Given the description of an element on the screen output the (x, y) to click on. 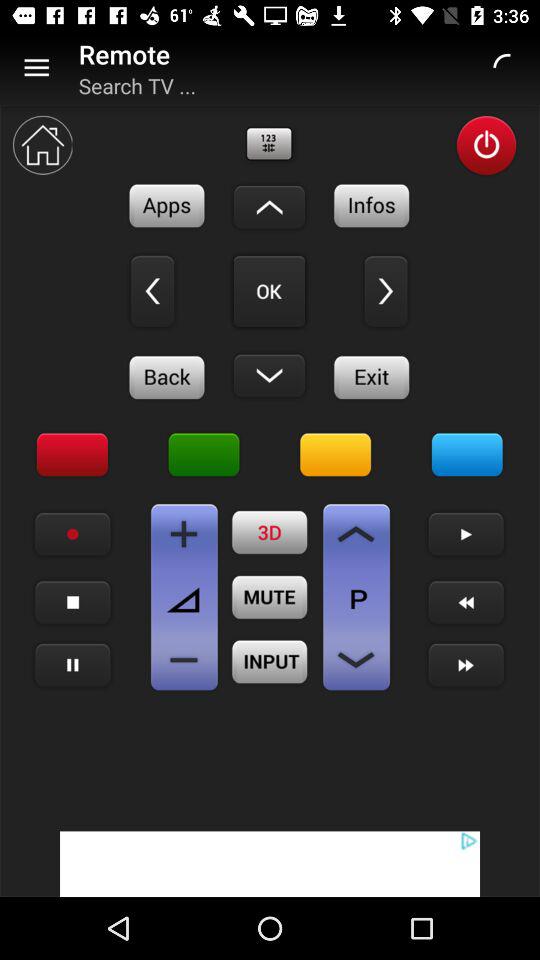
toggle left button (386, 291)
